Given the description of an element on the screen output the (x, y) to click on. 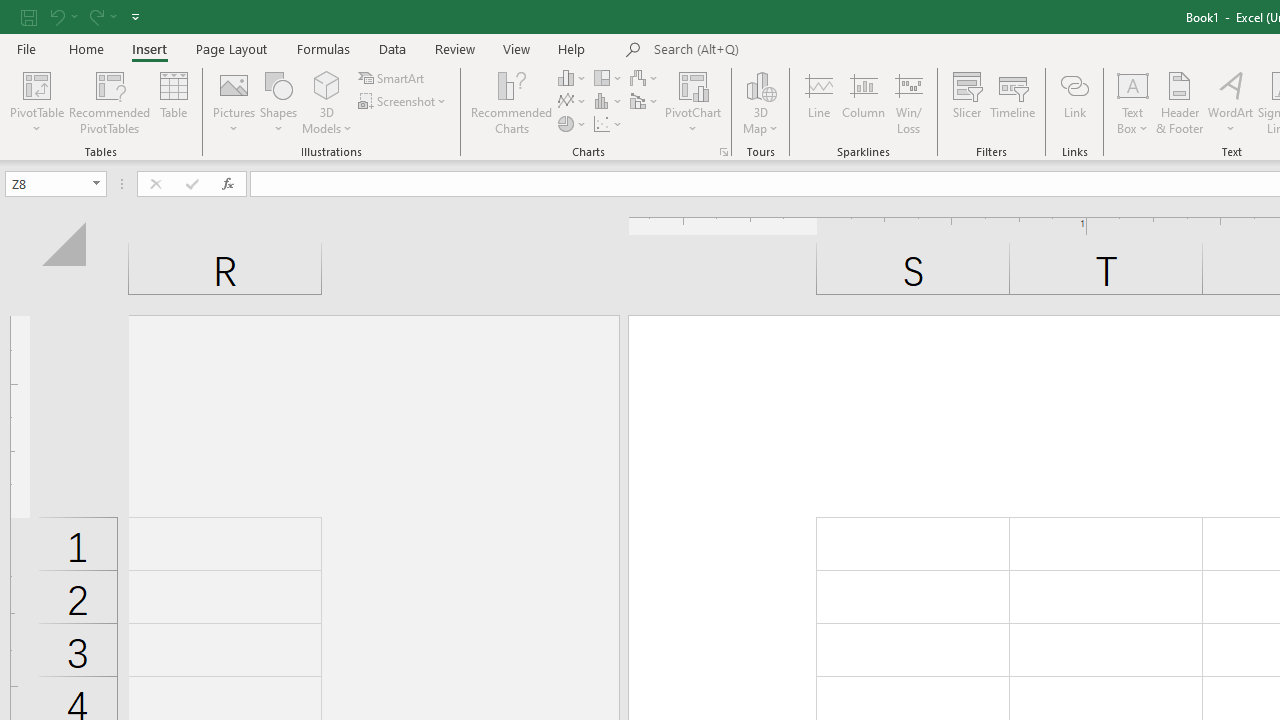
PivotChart (693, 84)
Recommended Charts (723, 151)
3D Map (760, 84)
Win/Loss (909, 102)
Table (173, 102)
Insert Statistic Chart (609, 101)
Screenshot (403, 101)
SmartArt... (392, 78)
PivotTable (36, 84)
PivotTable (36, 102)
3D Models (326, 102)
Insert Scatter (X, Y) or Bubble Chart (609, 124)
